Given the description of an element on the screen output the (x, y) to click on. 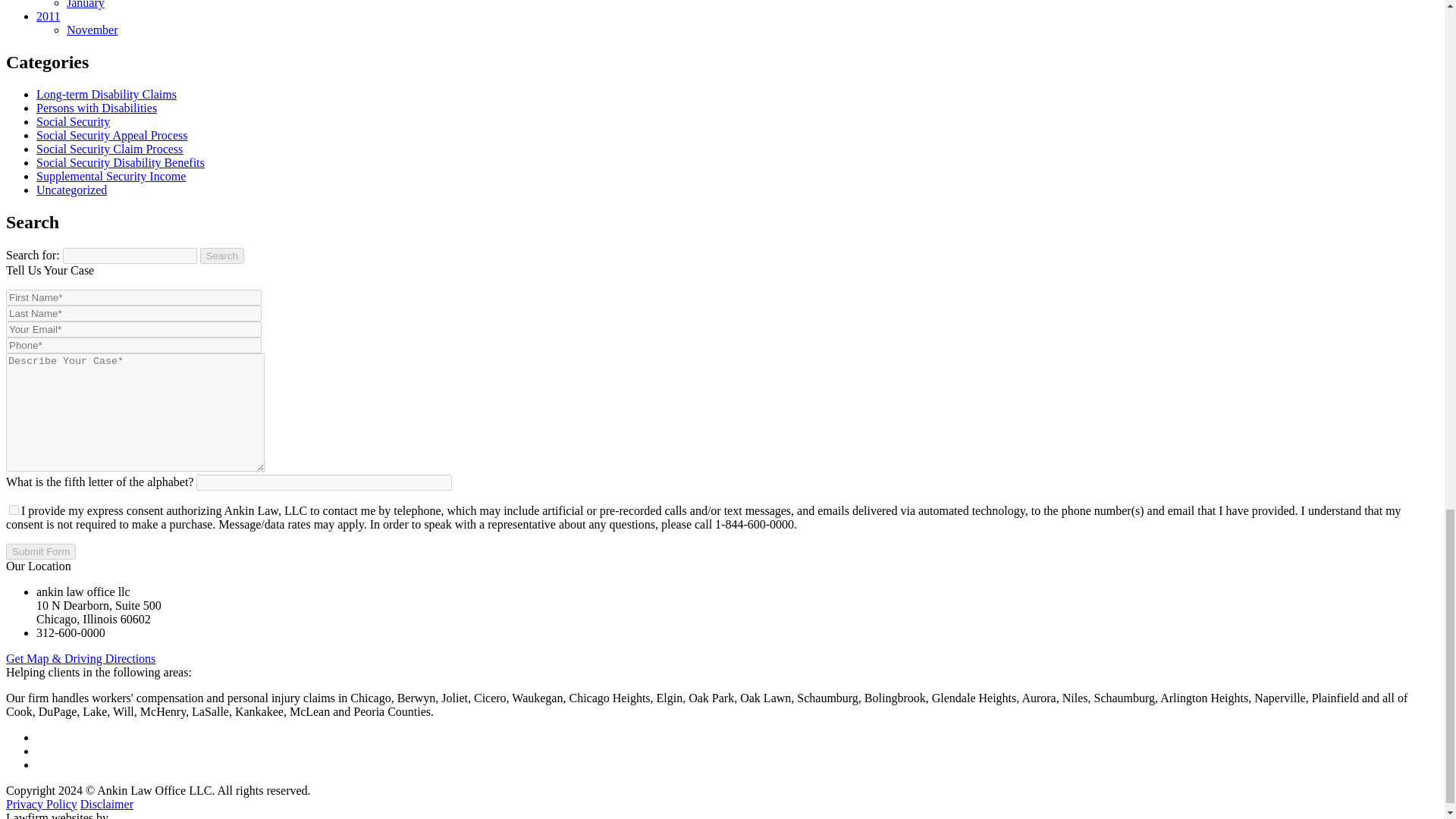
Submit Form (40, 550)
Search (222, 254)
